Given the description of an element on the screen output the (x, y) to click on. 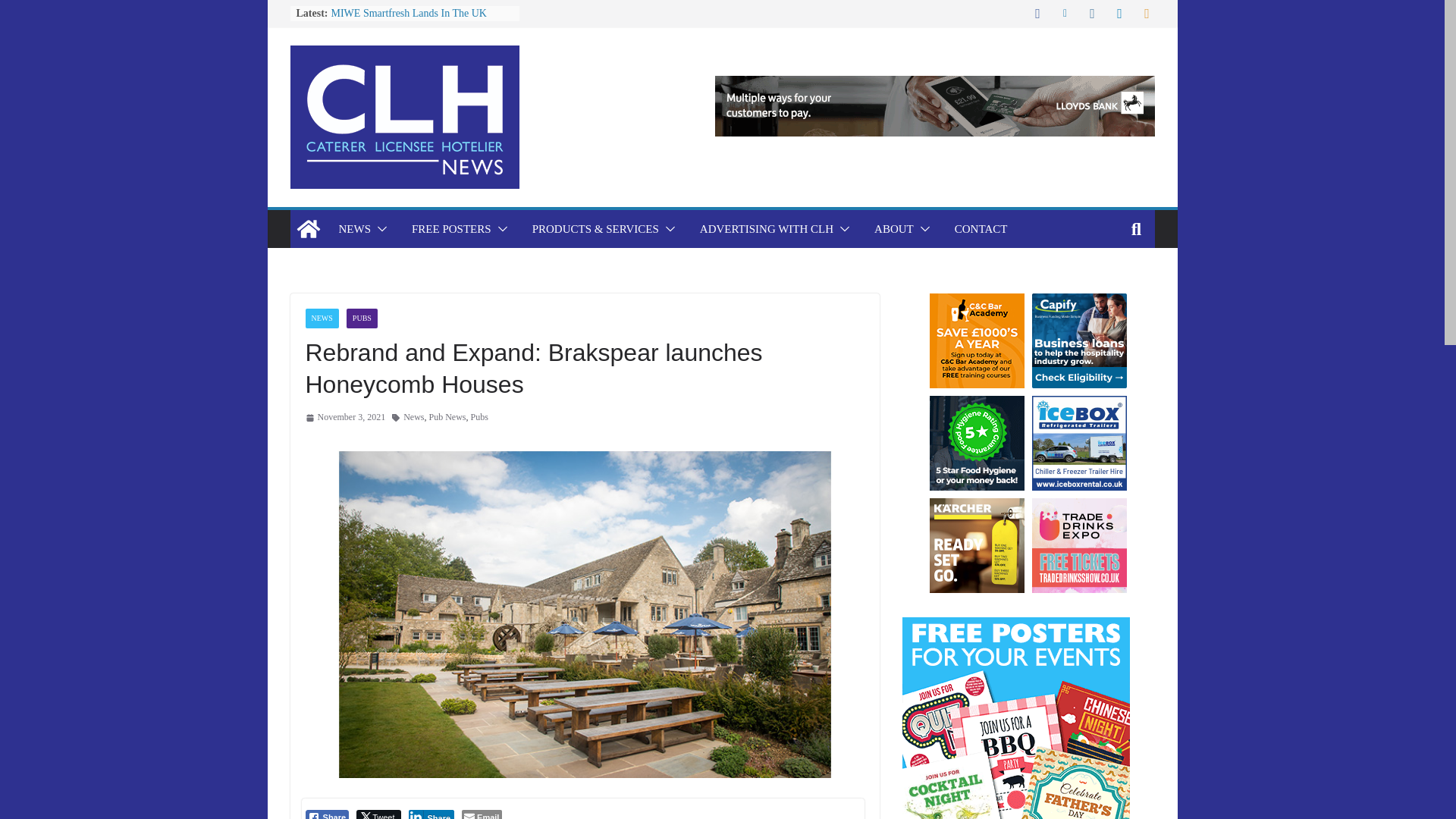
CLH News: Caterer, Licensee and Hotelier News (307, 228)
MIWE Smartfresh Lands In The UK (408, 12)
NEWS (354, 228)
MIWE Smartfresh Lands In The UK (408, 12)
FREE POSTERS (452, 228)
11:23 am (344, 417)
